Given the description of an element on the screen output the (x, y) to click on. 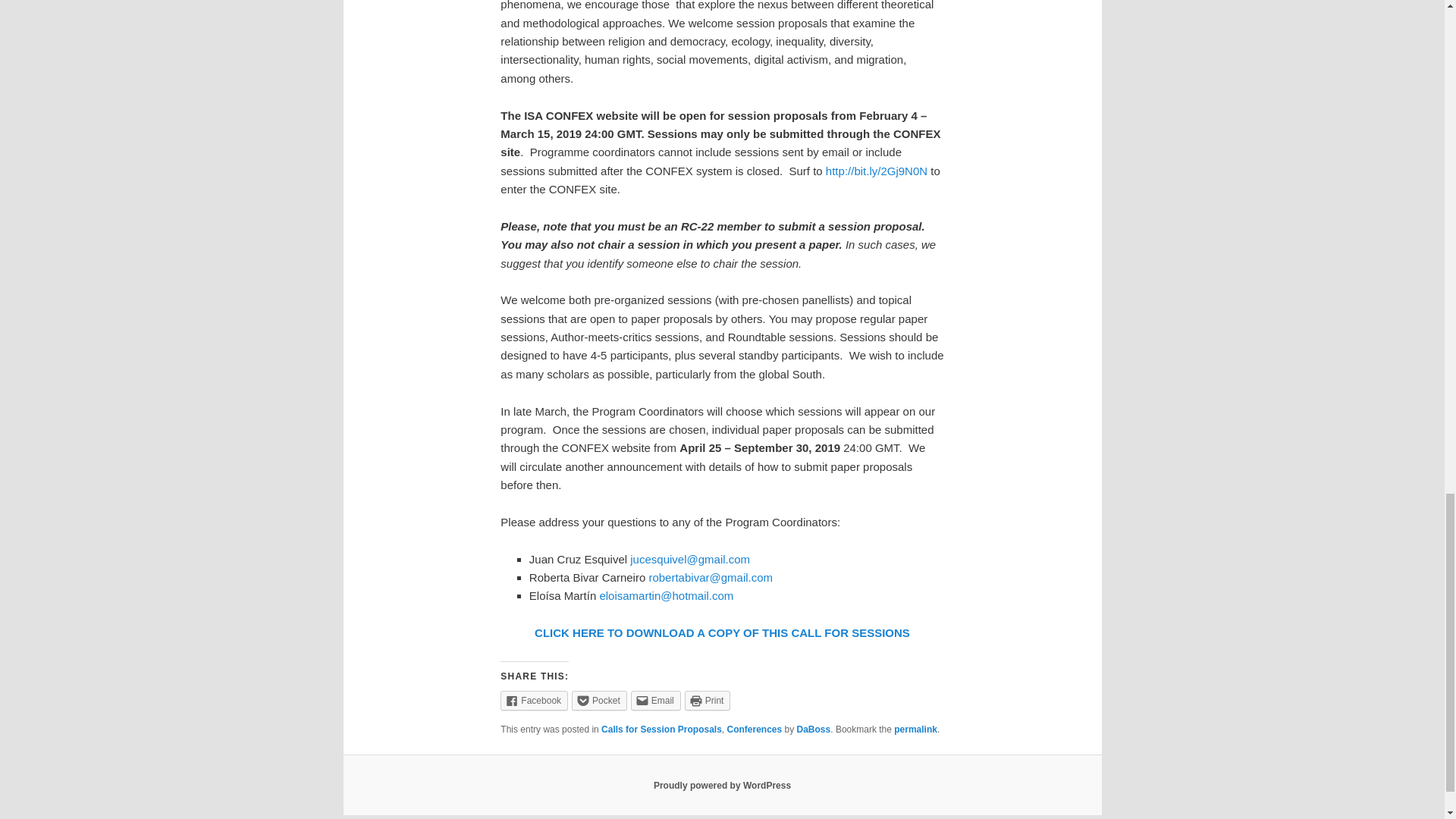
Pocket (599, 700)
Email (655, 700)
Conferences (753, 728)
Semantic Personal Publishing Platform (721, 785)
CLICK HERE TO DOWNLOAD A COPY OF THIS CALL FOR SESSIONS (722, 632)
Proudly powered by WordPress (721, 785)
Click to email this to a friend (655, 700)
DaBoss (813, 728)
Click to share on Pocket (599, 700)
Calls for Session Proposals (661, 728)
Facebook (533, 700)
Print (707, 700)
permalink (915, 728)
Click to share on Facebook (533, 700)
Click to print (707, 700)
